Given the description of an element on the screen output the (x, y) to click on. 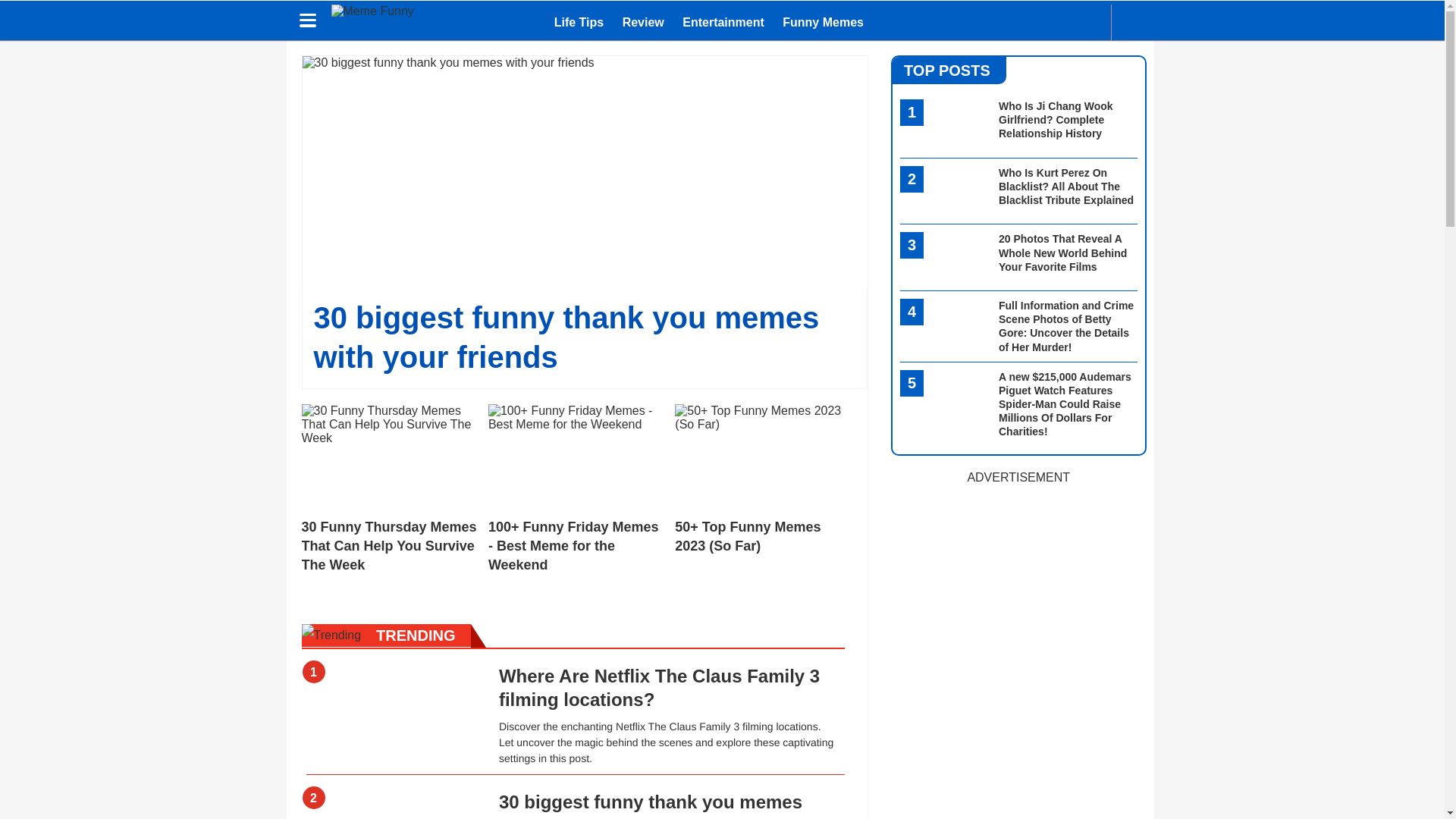
Review (642, 22)
TRENDING (573, 635)
2 (394, 809)
1 (394, 684)
Home back - Meme Funny (381, 22)
Funny Memes (822, 22)
Where Are Netflix The Claus Family 3 filming locations? (659, 687)
LOL Pic (1046, 22)
Life Tips (579, 22)
Entertainment (723, 22)
30 biggest funny thank you memes with your friends (650, 805)
30 Funny Thursday Memes That Can Help You Survive The Week (389, 489)
30 biggest funny thank you memes with your friends (650, 805)
